Given the description of an element on the screen output the (x, y) to click on. 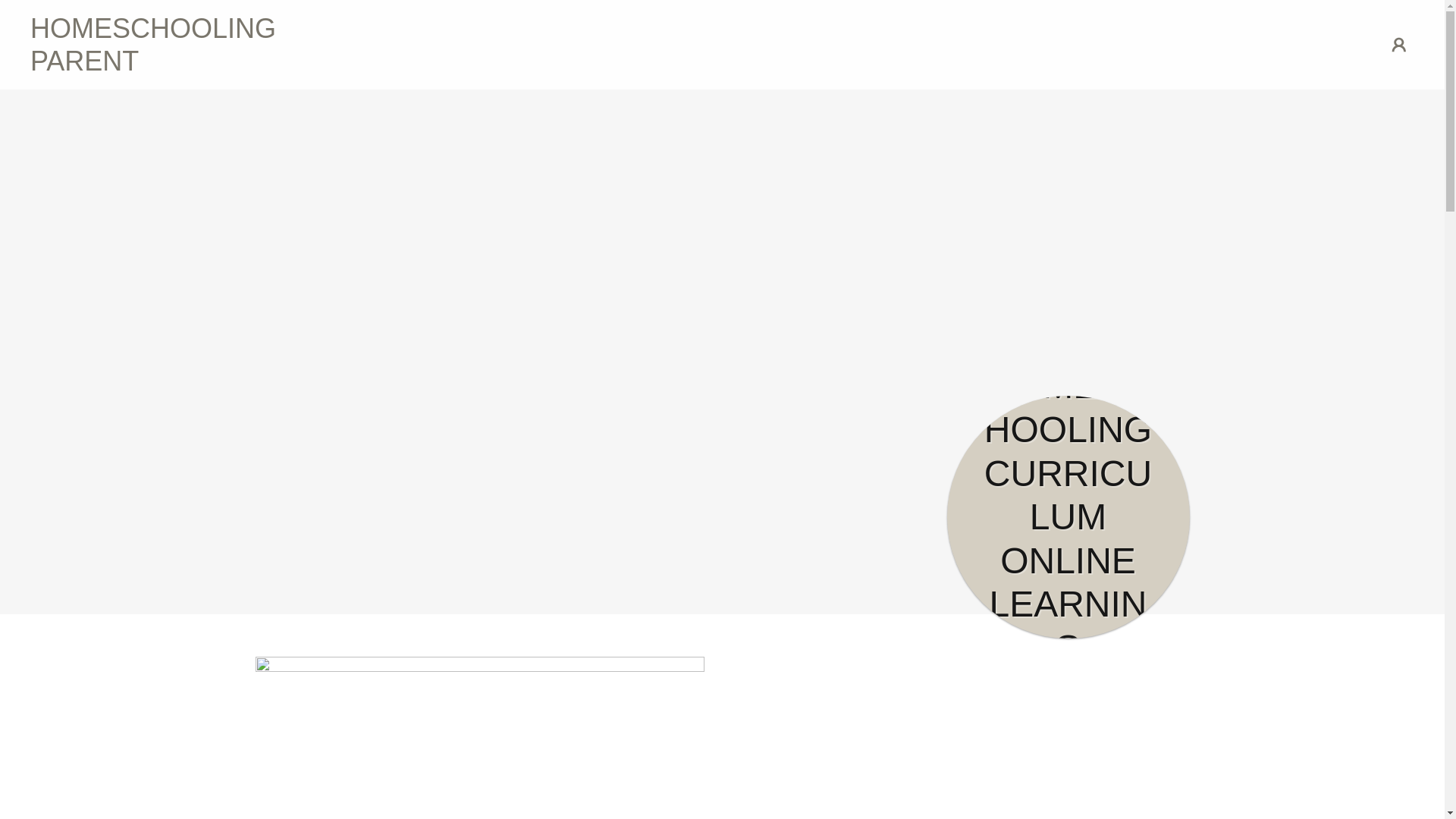
Homeschooling Parent (202, 65)
HOMESCHOOLING PARENT (202, 65)
